Given the description of an element on the screen output the (x, y) to click on. 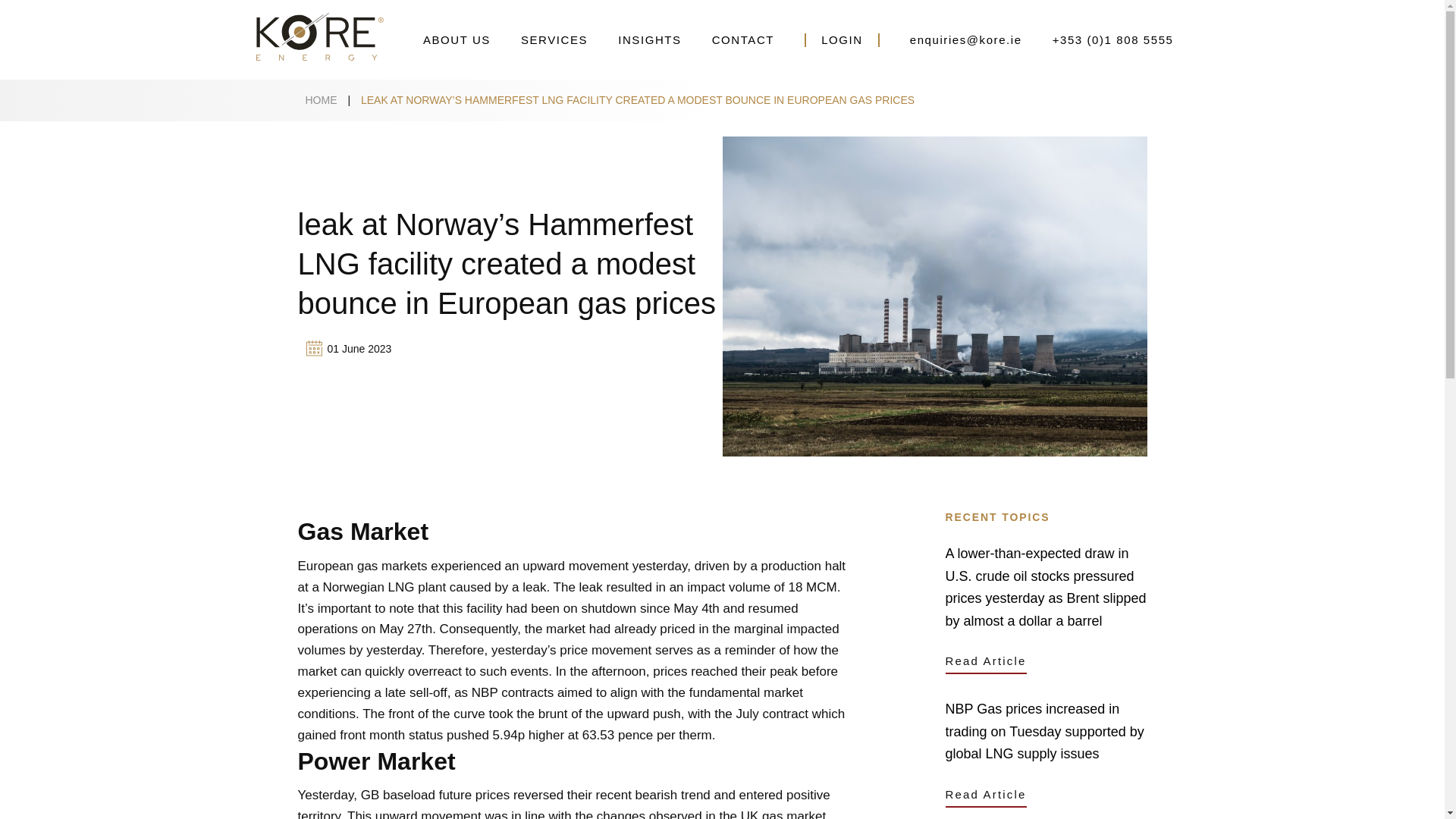
CONTACT (743, 39)
Read Article (985, 662)
ABOUT US (456, 39)
LOGIN (842, 39)
HOME (320, 99)
SERVICES (553, 39)
Read Article (985, 795)
INSIGHTS (648, 39)
